Given the description of an element on the screen output the (x, y) to click on. 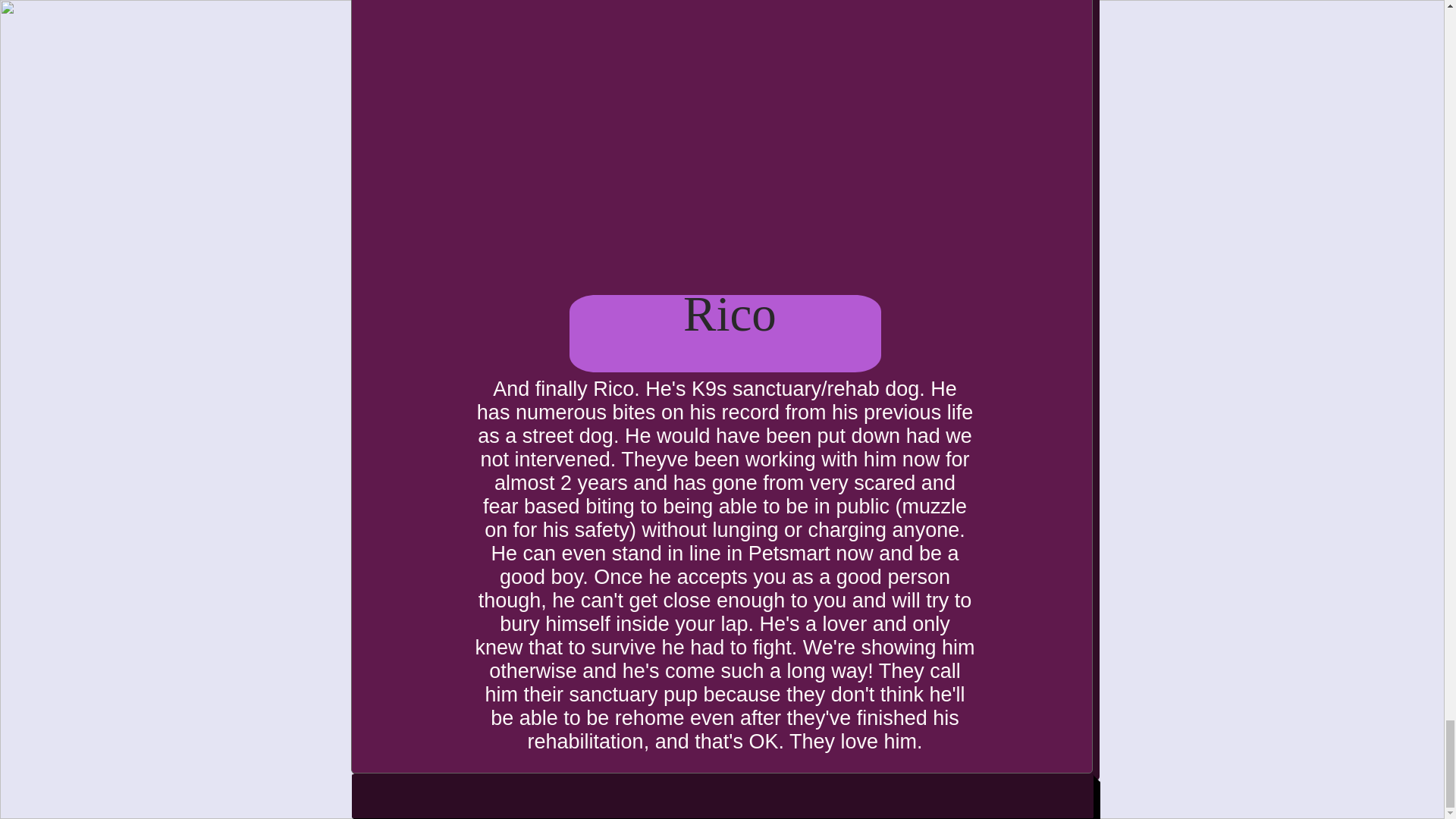
Twitter Follow (886, 794)
